Given the description of an element on the screen output the (x, y) to click on. 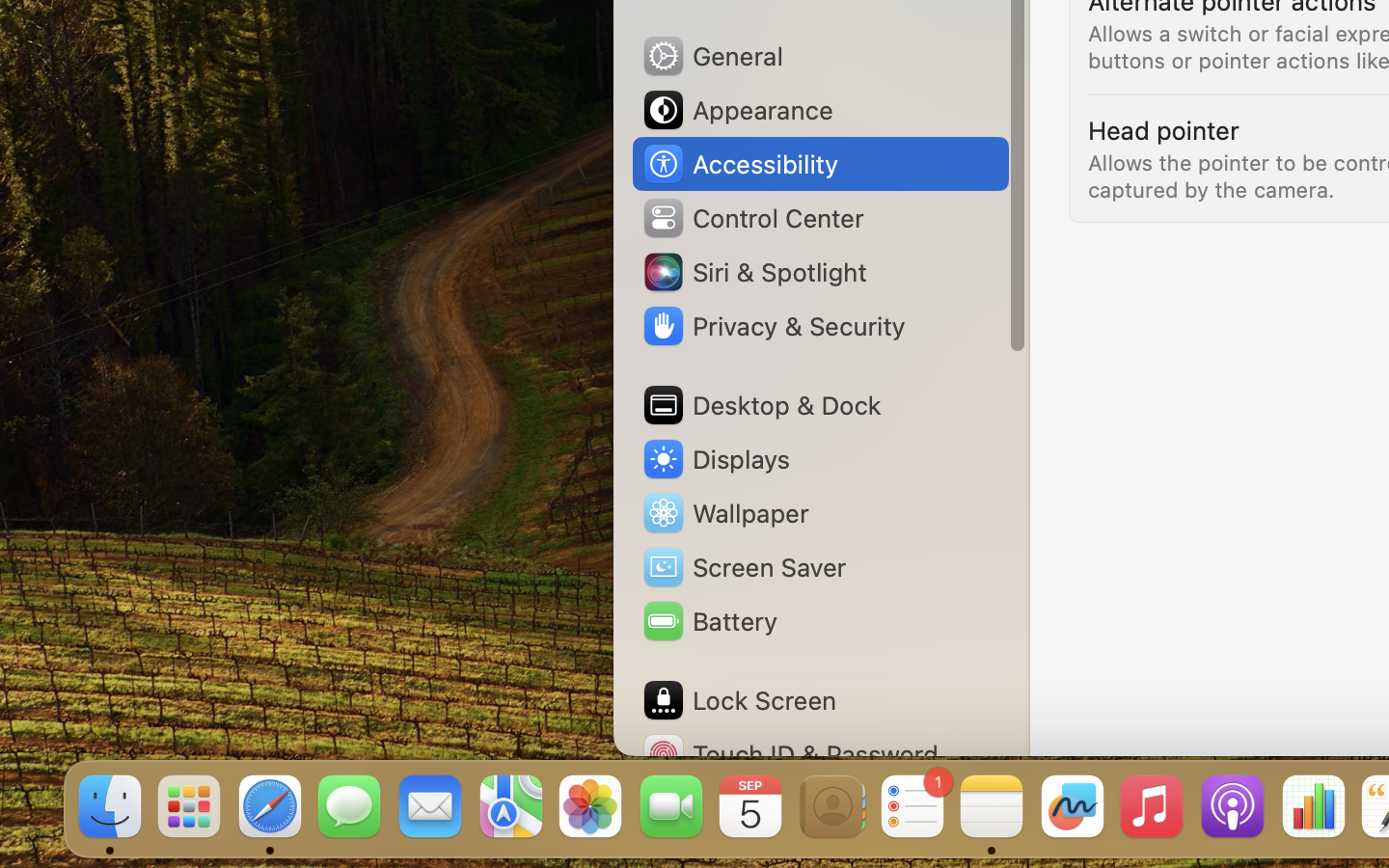
Privacy & Security Element type: AXStaticText (772, 325)
Touch ID & Password Element type: AXStaticText (789, 754)
General Element type: AXStaticText (711, 55)
Displays Element type: AXStaticText (715, 458)
